Given the description of an element on the screen output the (x, y) to click on. 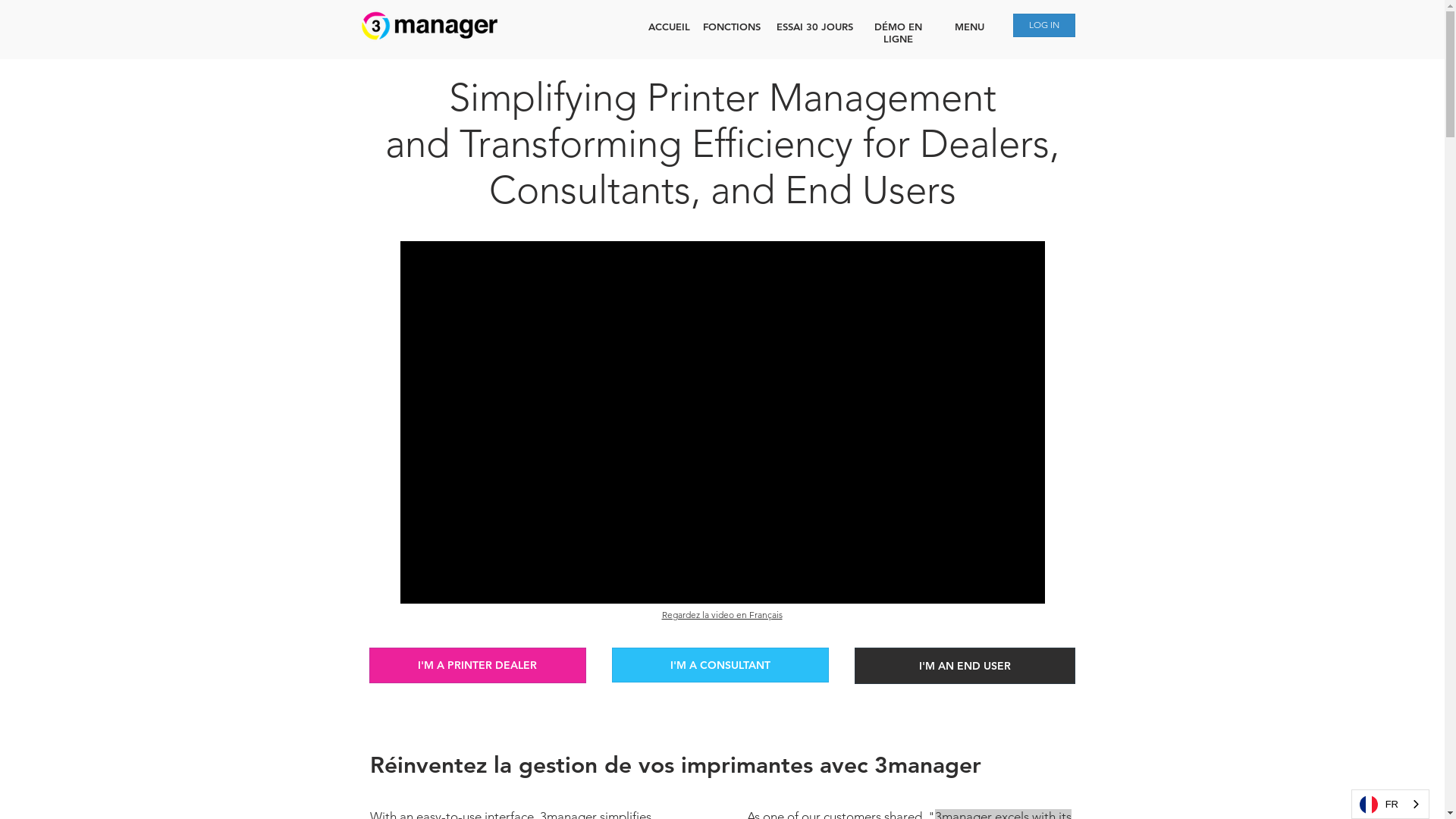
ESSAI 30 JOURS Element type: text (814, 26)
ACCUEIL Element type: text (669, 26)
I'M A PRINTER DEALER Element type: text (476, 665)
LOG IN Element type: text (1044, 25)
I'M A CONSULTANT Element type: text (719, 664)
MENU Element type: text (968, 26)
I'M AN END USER Element type: text (963, 665)
FONCTIONS Element type: text (730, 26)
FR Element type: text (1390, 804)
